Given the description of an element on the screen output the (x, y) to click on. 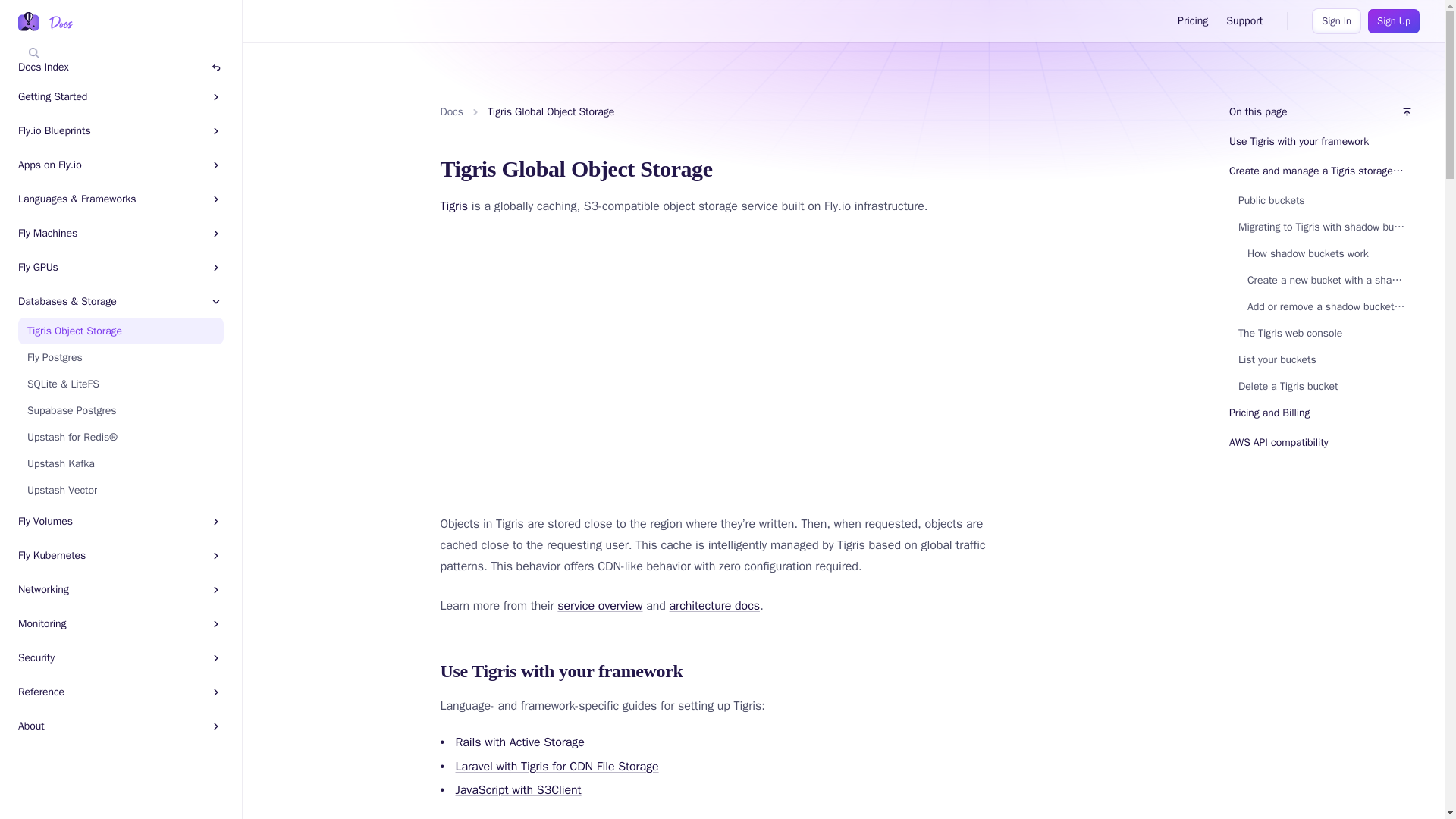
Apps on Fly.io (49, 164)
Getting Started (52, 96)
Toggle Apps on Fly.io section (157, 164)
Toggle Fly.io Blueprints section (162, 130)
Support (1243, 21)
Docs Index (116, 67)
Pricing (1192, 21)
Sign Up (1394, 21)
Toggle Getting Started section (160, 96)
YouTube video player (651, 354)
